Given the description of an element on the screen output the (x, y) to click on. 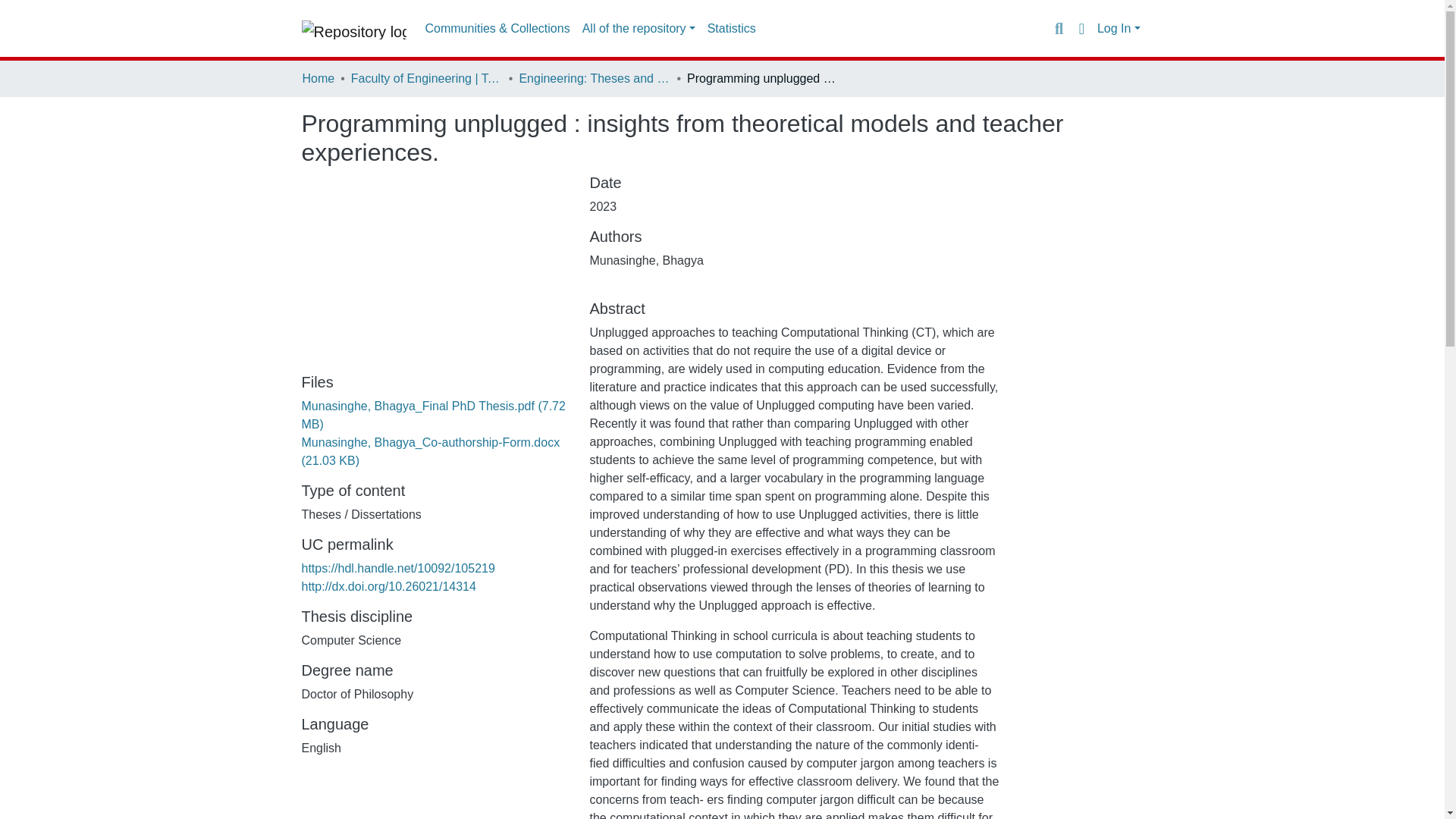
Statistics (731, 28)
Log In (1118, 28)
Home (317, 78)
All of the repository (638, 28)
Search (1058, 28)
Language switch (1081, 28)
Statistics (731, 28)
Engineering: Theses and Dissertations (593, 78)
